Given the description of an element on the screen output the (x, y) to click on. 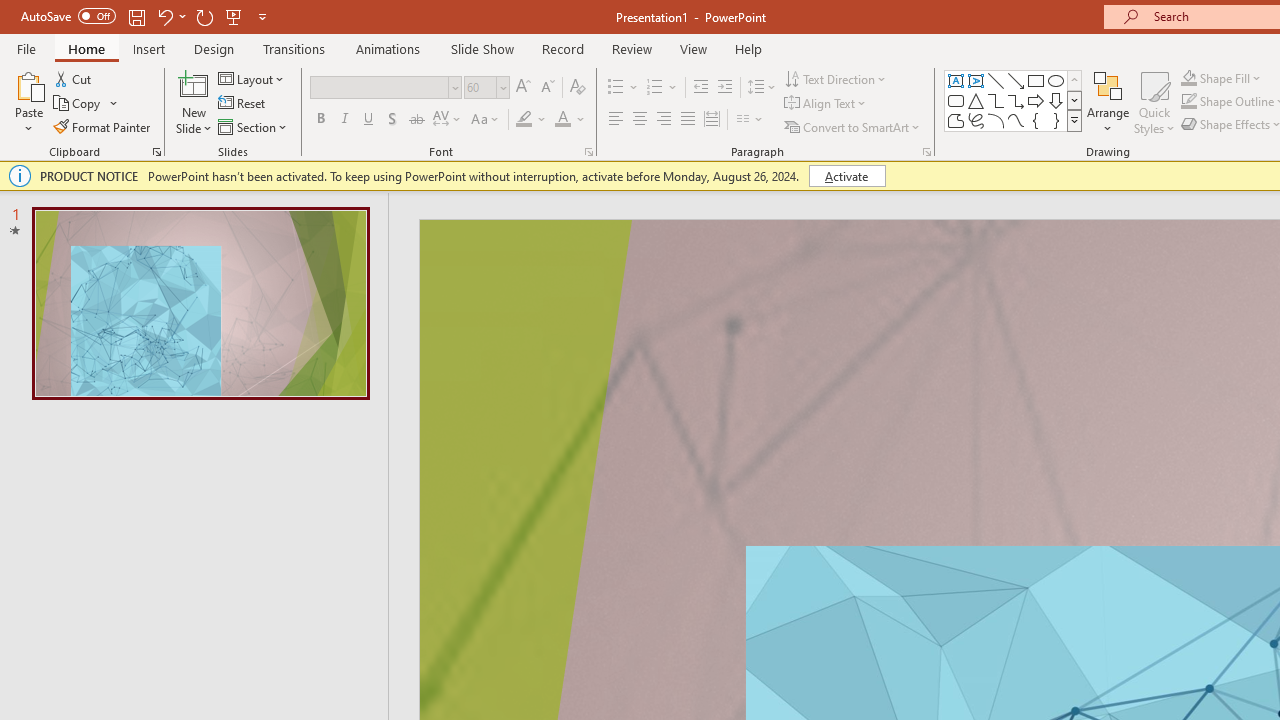
Activate (846, 175)
